Given the description of an element on the screen output the (x, y) to click on. 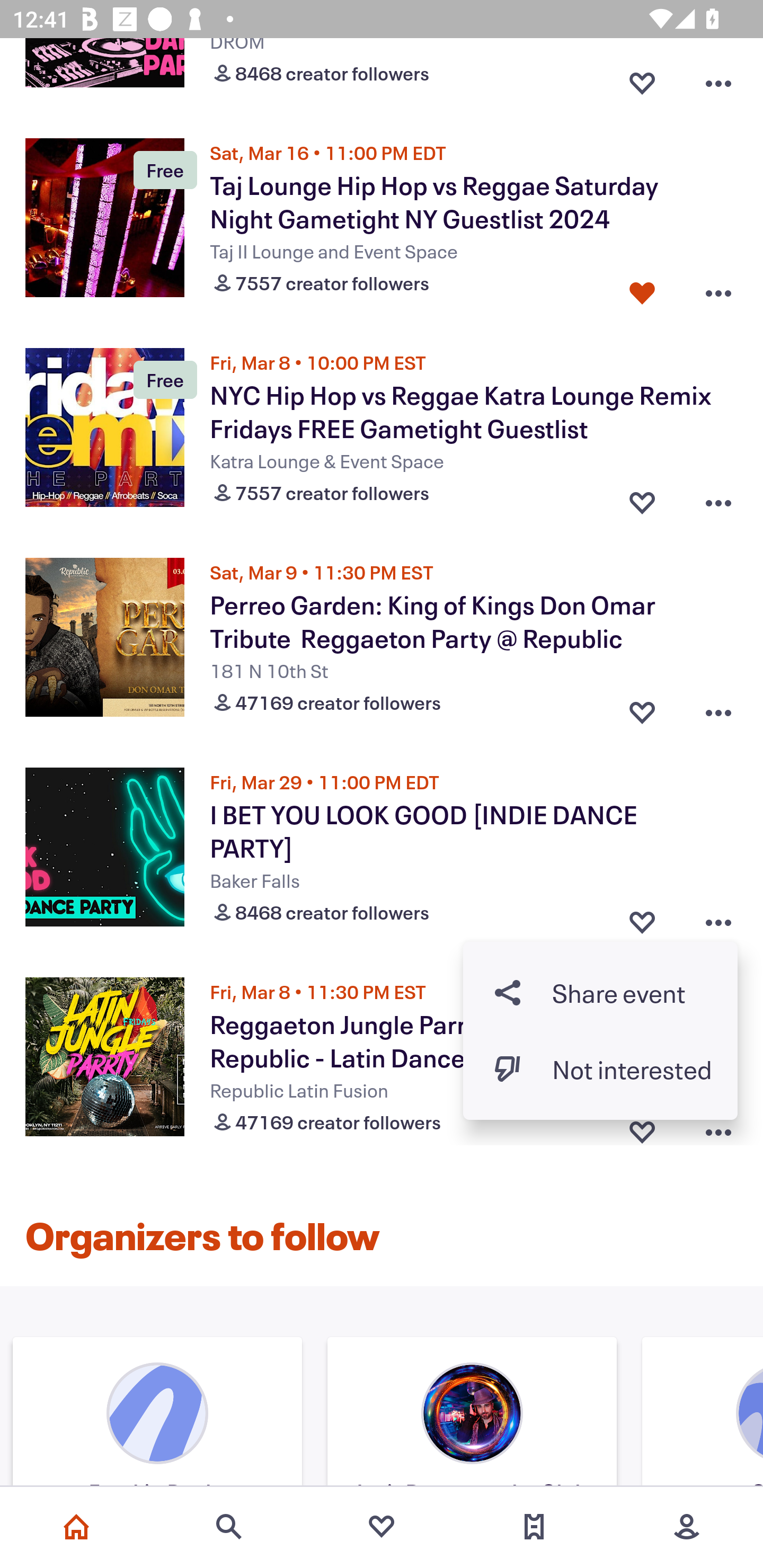
Share button Share event (600, 992)
Dislike event button Not interested (600, 1068)
